Given the description of an element on the screen output the (x, y) to click on. 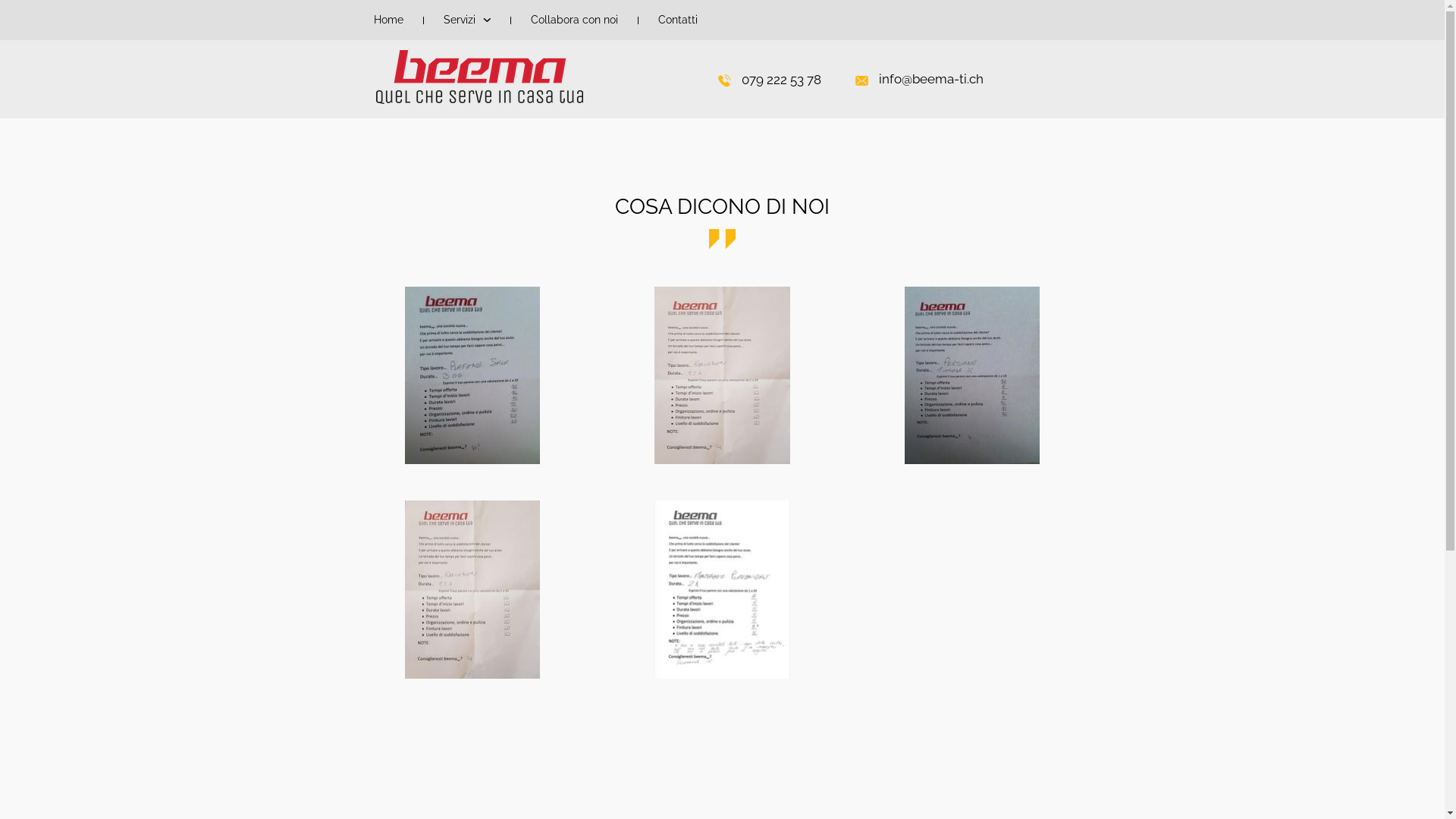
Collabora con noi Element type: text (574, 19)
079 222 53 78 Element type: text (781, 79)
email Element type: hover (861, 80)
Contatti Element type: text (677, 19)
telefono Element type: hover (723, 80)
info@beema-ti.ch Element type: text (930, 78)
logo Element type: hover (479, 76)
Servizi Element type: text (466, 19)
Home Element type: text (387, 19)
